Given the description of an element on the screen output the (x, y) to click on. 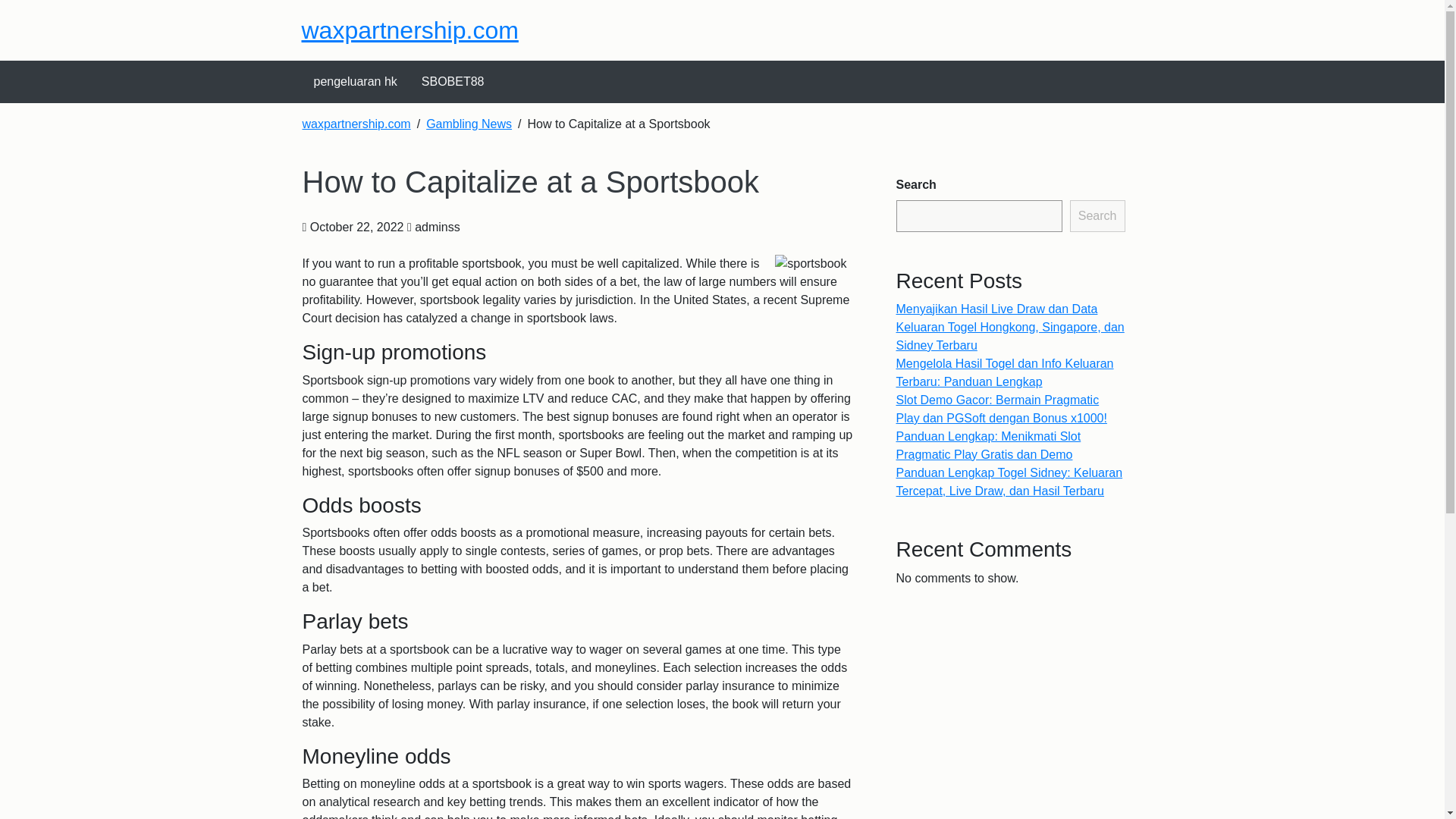
Gambling News (469, 123)
Search (1097, 215)
SBOBET88 (452, 81)
pengeluaran hk (355, 81)
waxpartnership.com (355, 123)
SBOBET88 (452, 81)
pengeluaran hk (355, 81)
waxpartnership.com (409, 30)
